Given the description of an element on the screen output the (x, y) to click on. 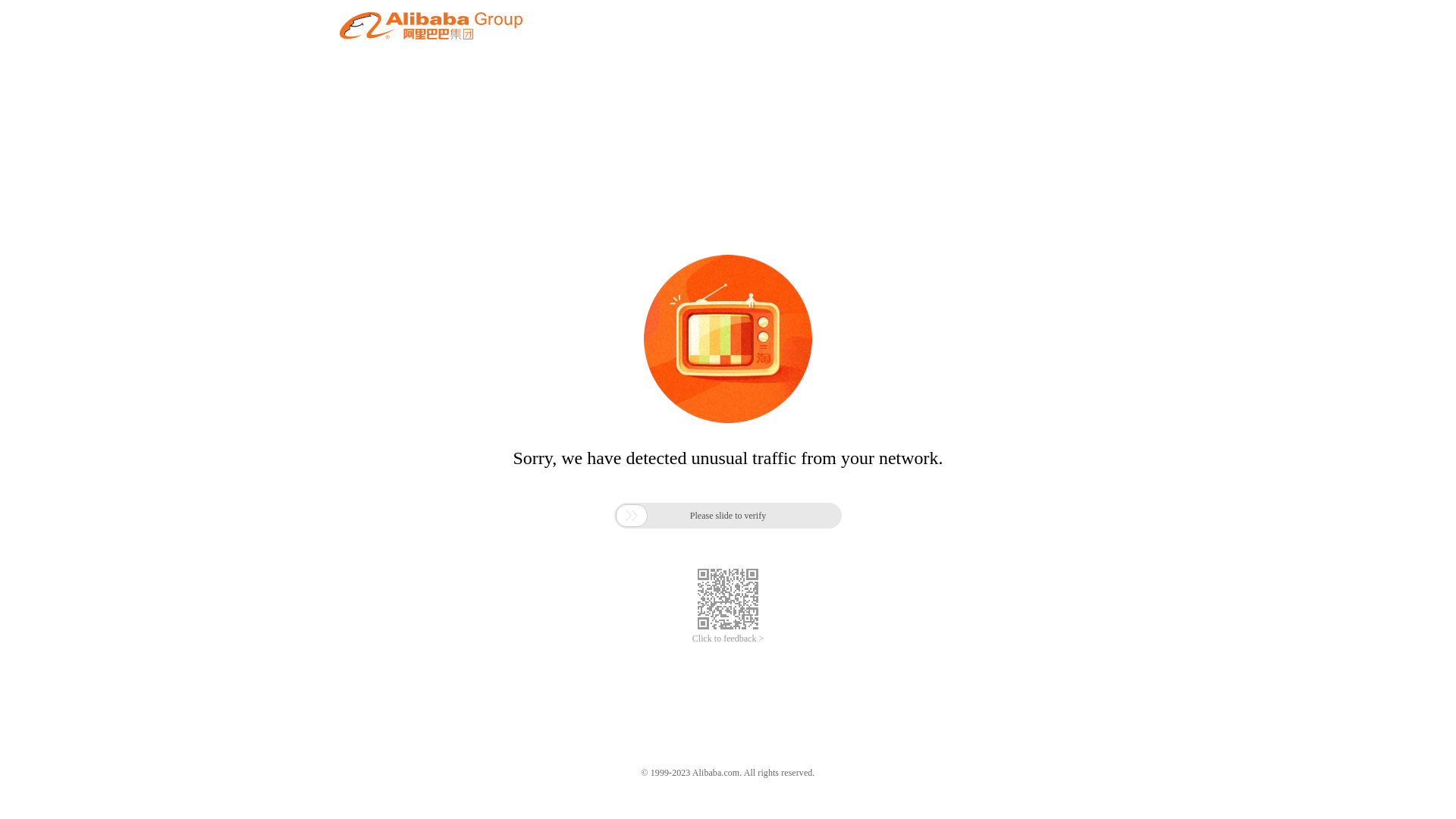
Click to feedback > Element type: text (727, 638)
